Given the description of an element on the screen output the (x, y) to click on. 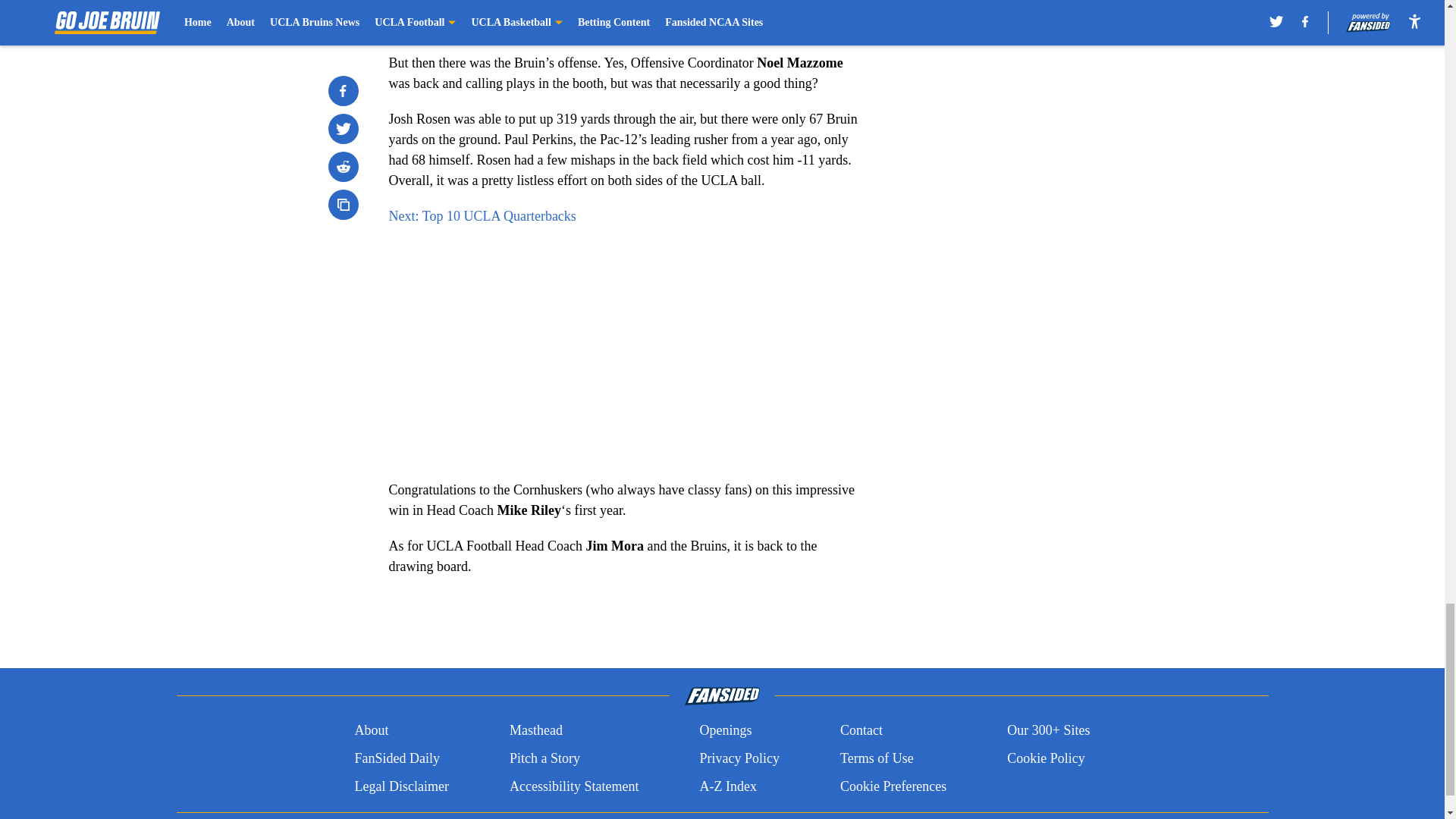
About (370, 729)
Contact (861, 729)
Masthead (535, 729)
Pitch a Story (544, 758)
Next: Top 10 UCLA Quarterbacks (481, 215)
Terms of Use (877, 758)
Openings (724, 729)
Cookie Policy (1045, 758)
Legal Disclaimer (400, 785)
Privacy Policy (738, 758)
FanSided Daily (396, 758)
